Given the description of an element on the screen output the (x, y) to click on. 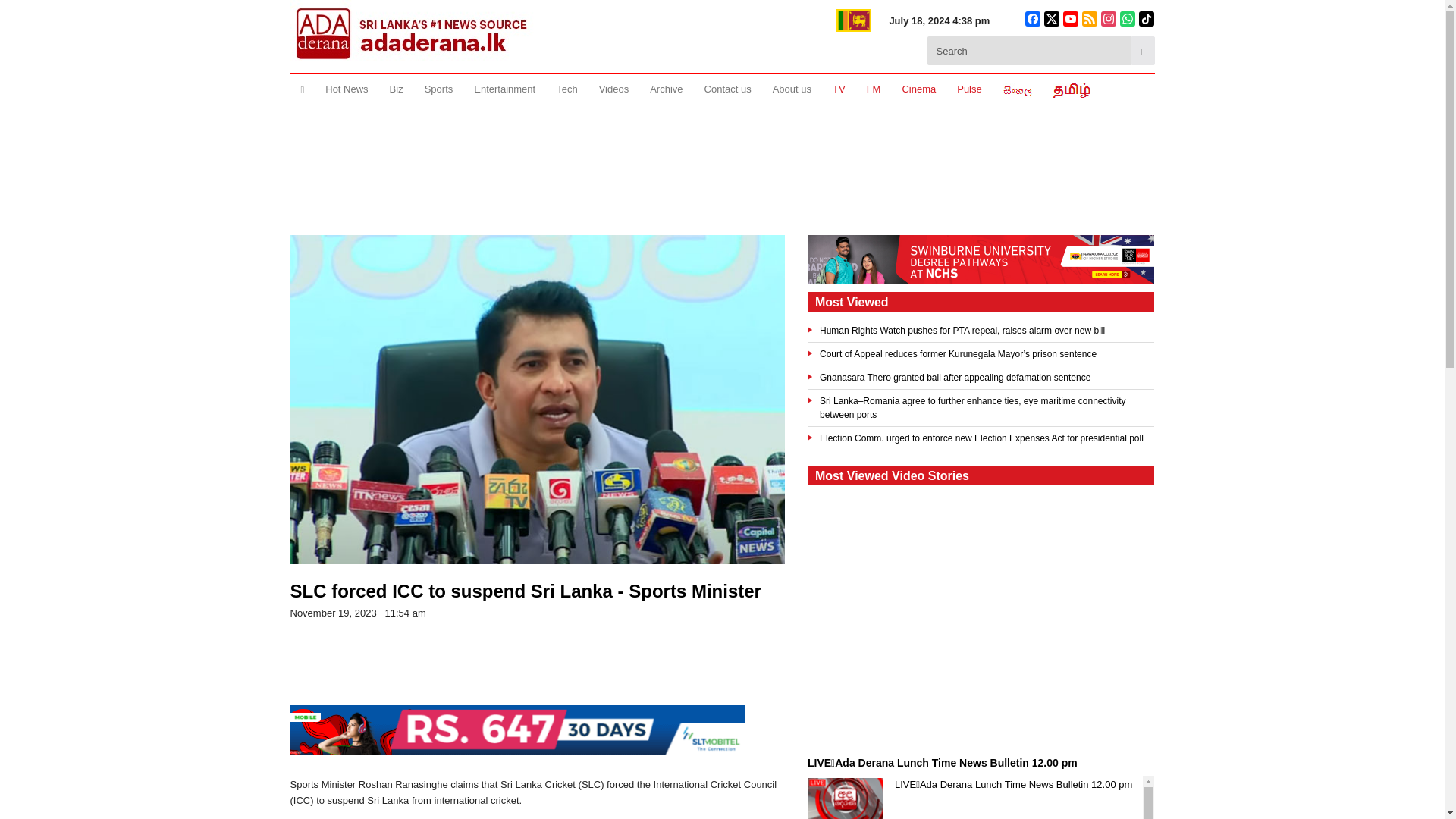
Tech (567, 89)
Videos (614, 89)
3rd party ad content (516, 676)
TV (839, 89)
About us (791, 89)
Entertainment (504, 89)
3rd party ad content (516, 729)
Cinema (918, 89)
3rd party ad content (981, 273)
3rd party ad content (943, 190)
FM (873, 89)
Archive (666, 89)
Most Viewed Video Stories (981, 475)
3rd party ad content (499, 190)
